Given the description of an element on the screen output the (x, y) to click on. 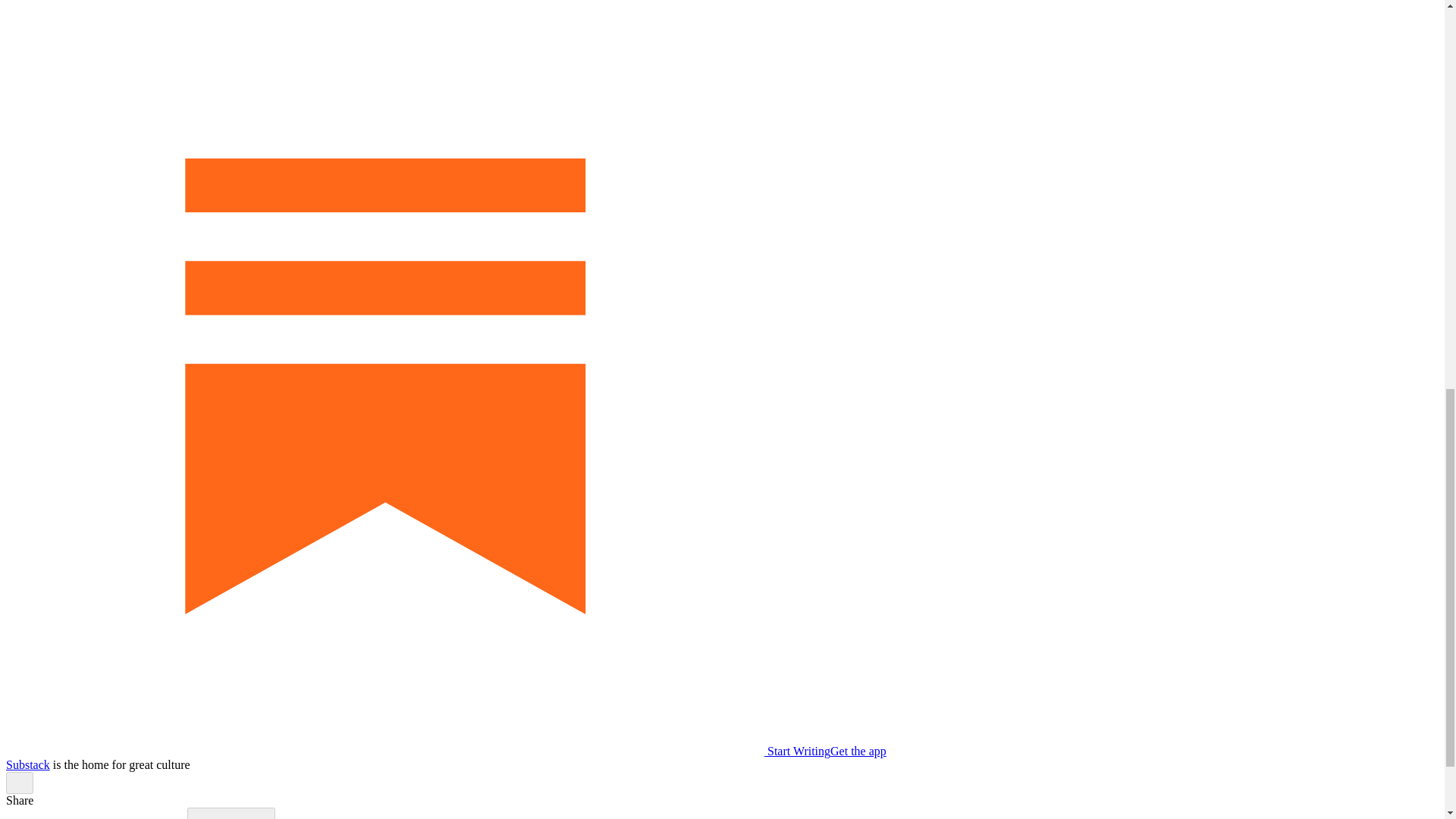
Substack (27, 764)
Get the app (857, 750)
Start Writing (417, 750)
